Given the description of an element on the screen output the (x, y) to click on. 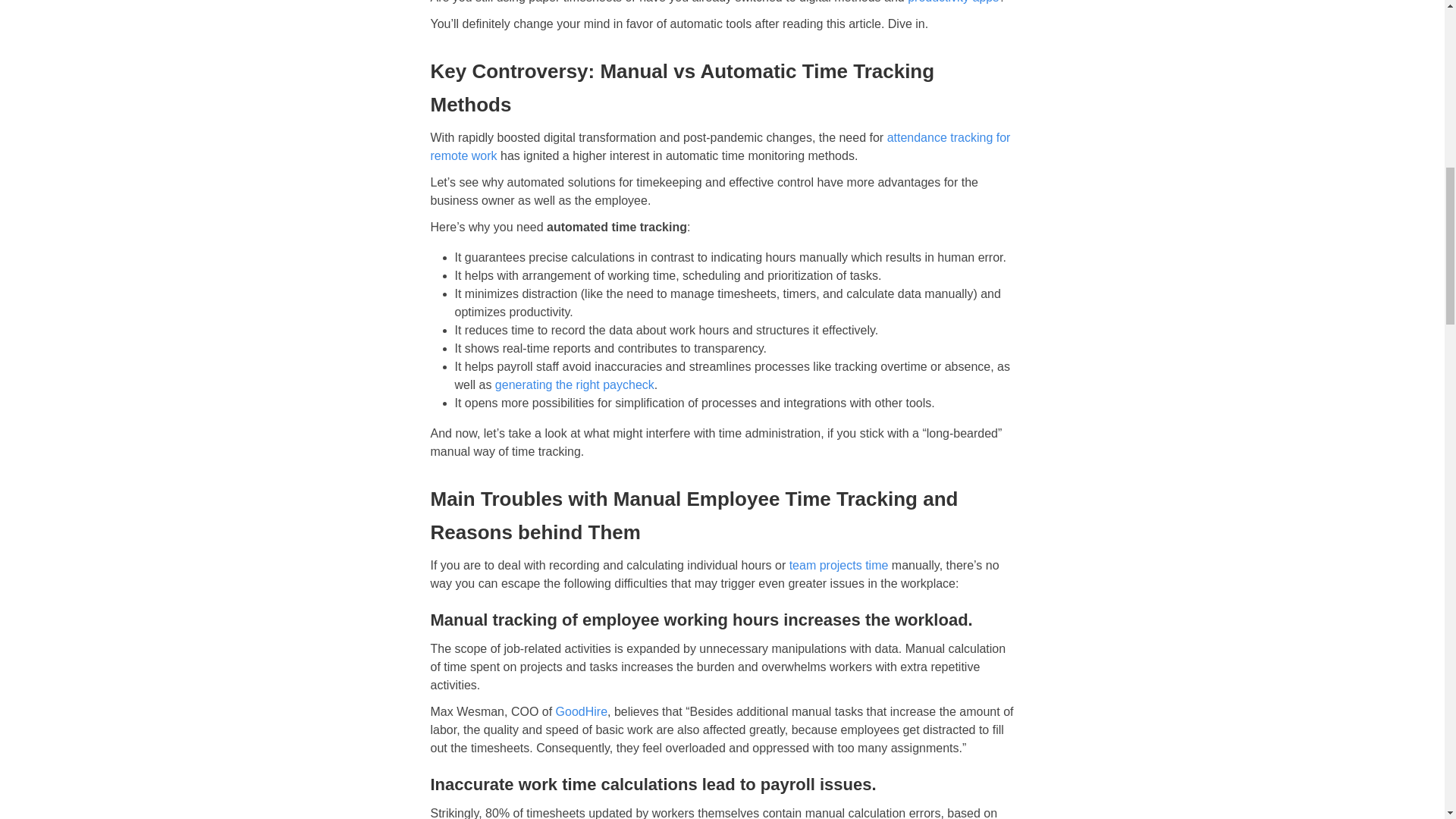
team projects time (838, 564)
GoodHire (581, 711)
generating the right paycheck (574, 384)
attendance tracking for remote work (720, 146)
productivity apps (952, 2)
